Given the description of an element on the screen output the (x, y) to click on. 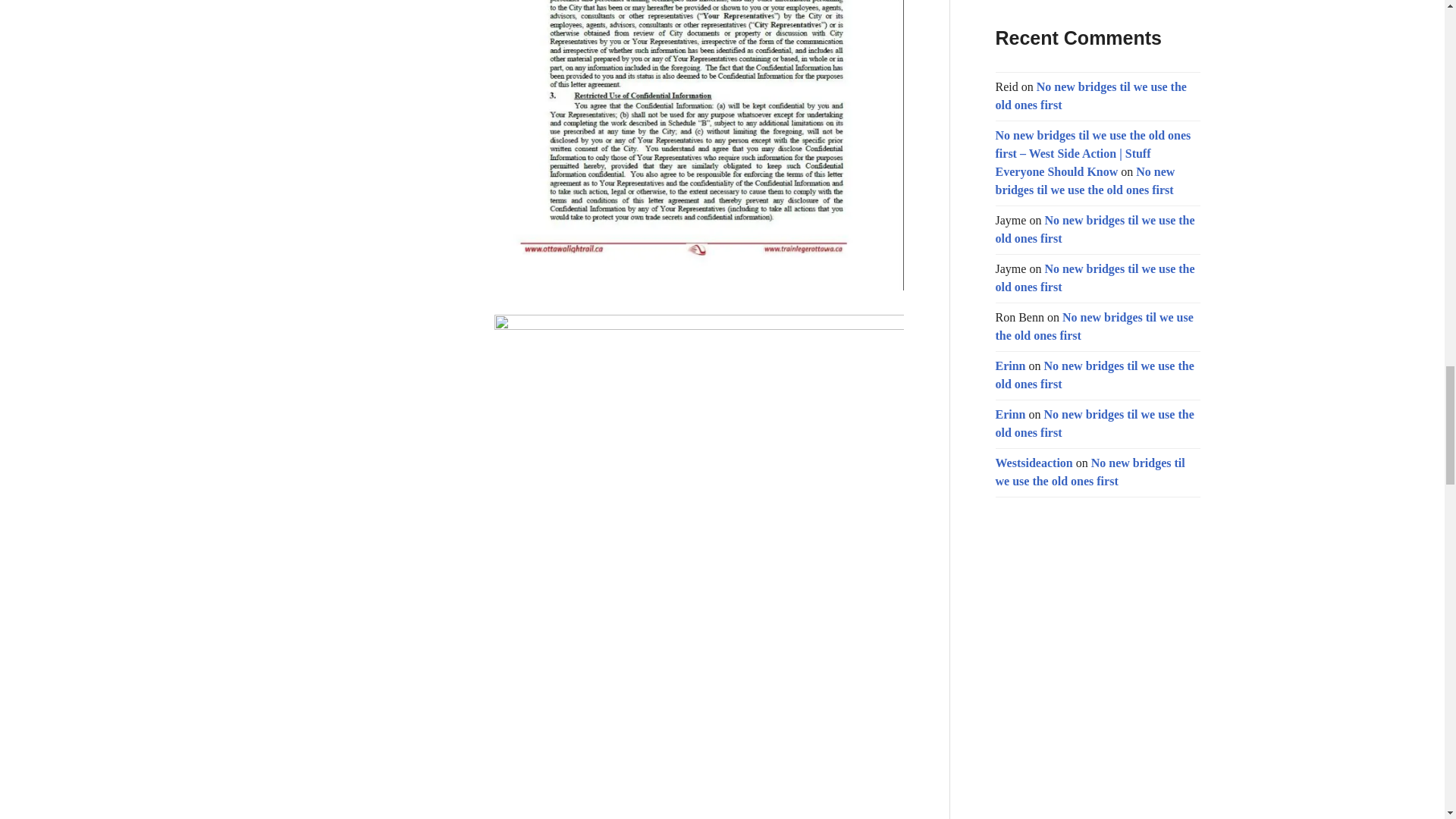
NDApg1 (699, 145)
